Given the description of an element on the screen output the (x, y) to click on. 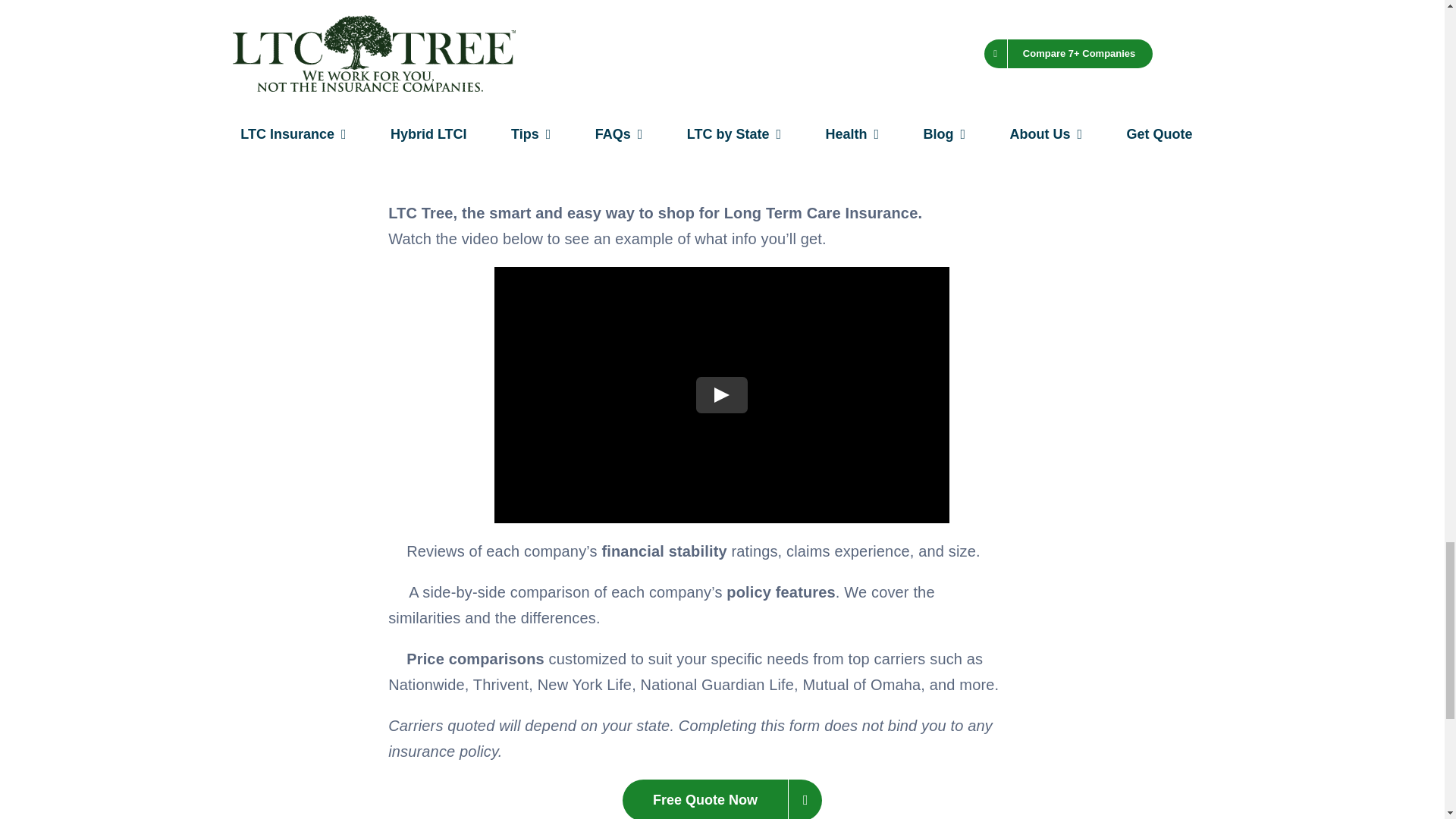
YouTube video player 1 (722, 394)
